Given the description of an element on the screen output the (x, y) to click on. 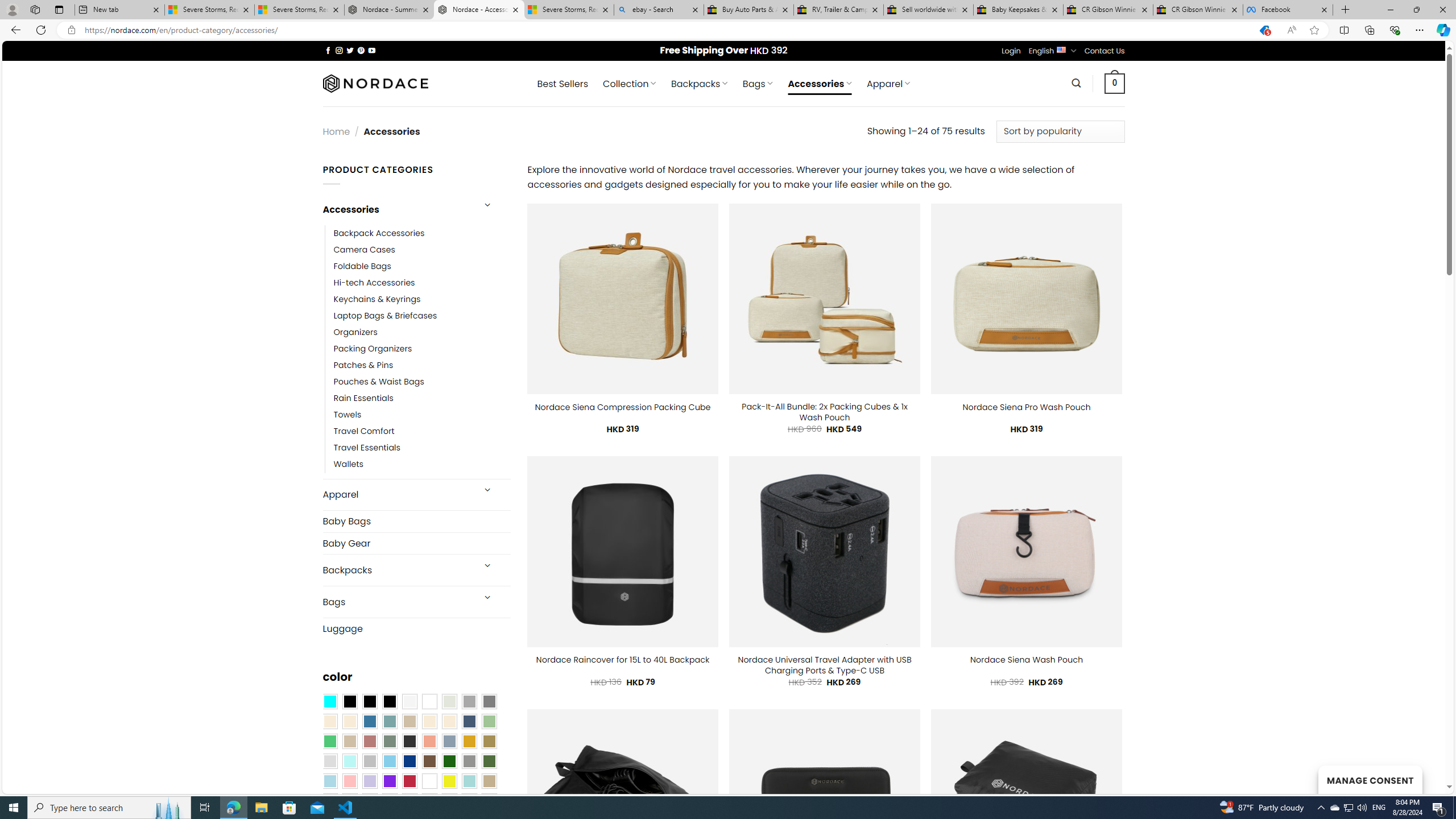
Wallets (422, 464)
All Gray (488, 701)
Cream (449, 721)
Dark Gray (468, 701)
Black-Brown (389, 701)
Foldable Bags (362, 265)
Dusty Blue (449, 741)
